Given the description of an element on the screen output the (x, y) to click on. 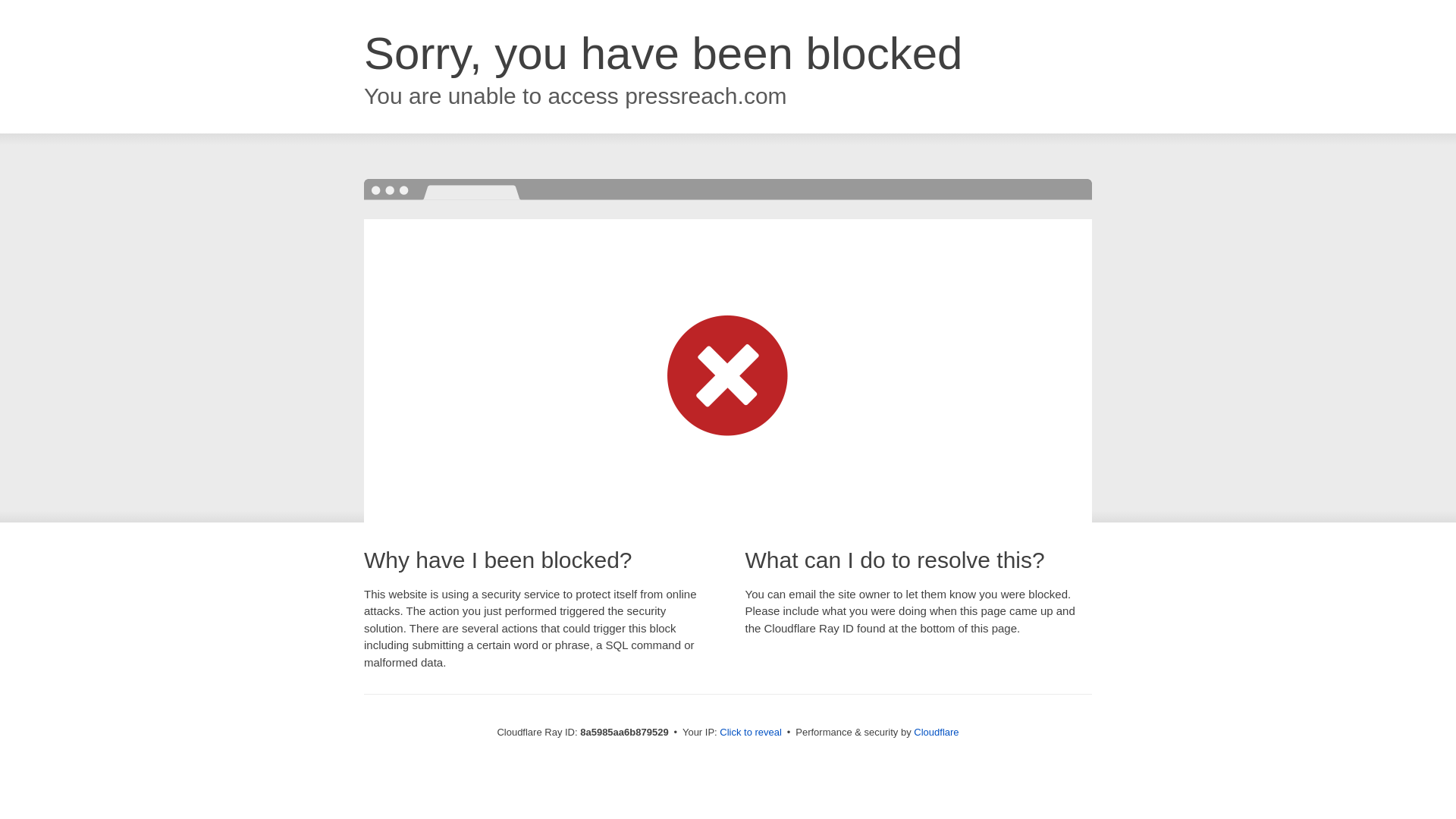
Click to reveal (750, 732)
Cloudflare (936, 731)
